Given the description of an element on the screen output the (x, y) to click on. 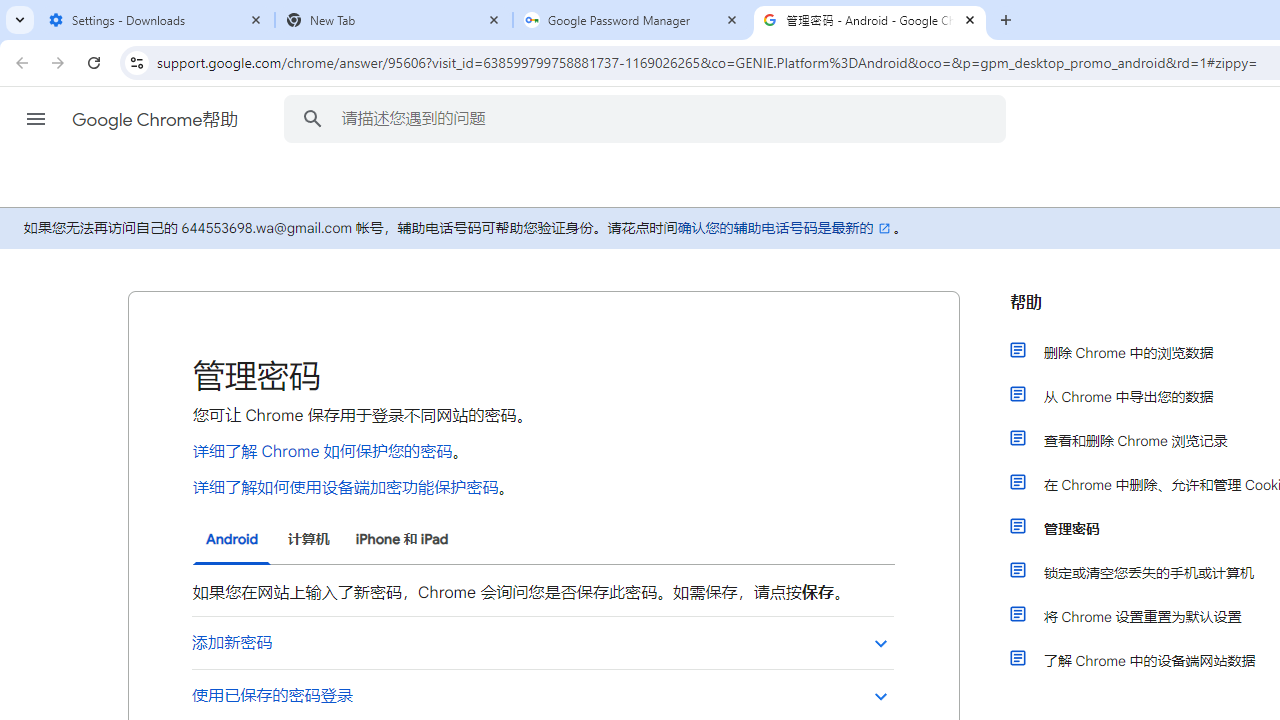
Google Password Manager (632, 20)
New Tab (394, 20)
